Given the description of an element on the screen output the (x, y) to click on. 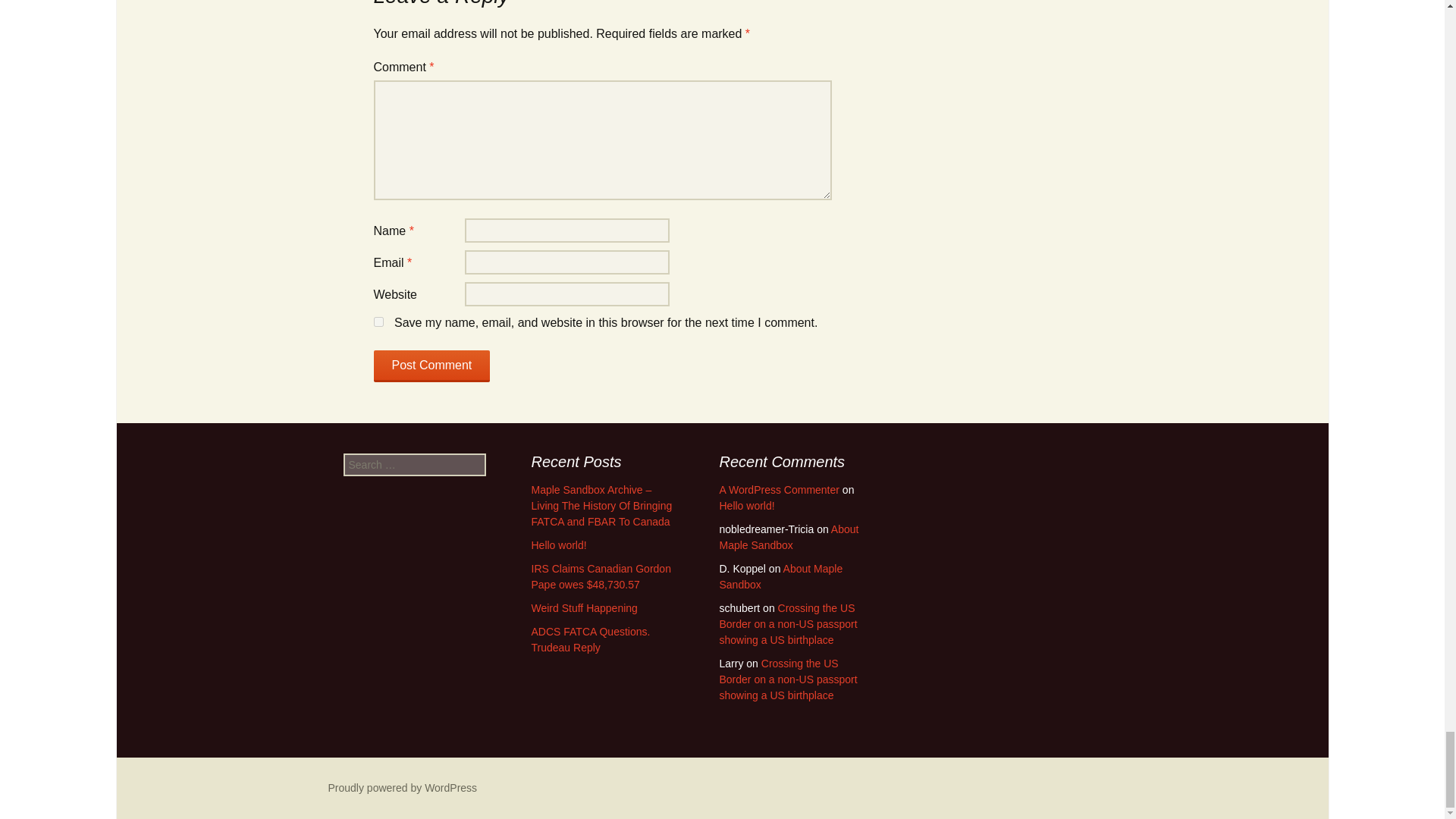
Post Comment (430, 366)
yes (377, 321)
